Given the description of an element on the screen output the (x, y) to click on. 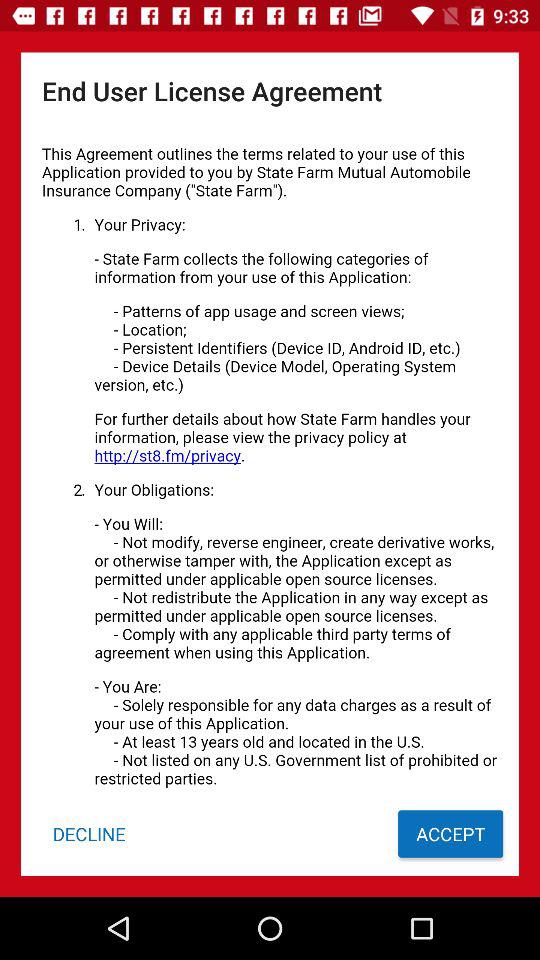
go to previous (269, 460)
